Given the description of an element on the screen output the (x, y) to click on. 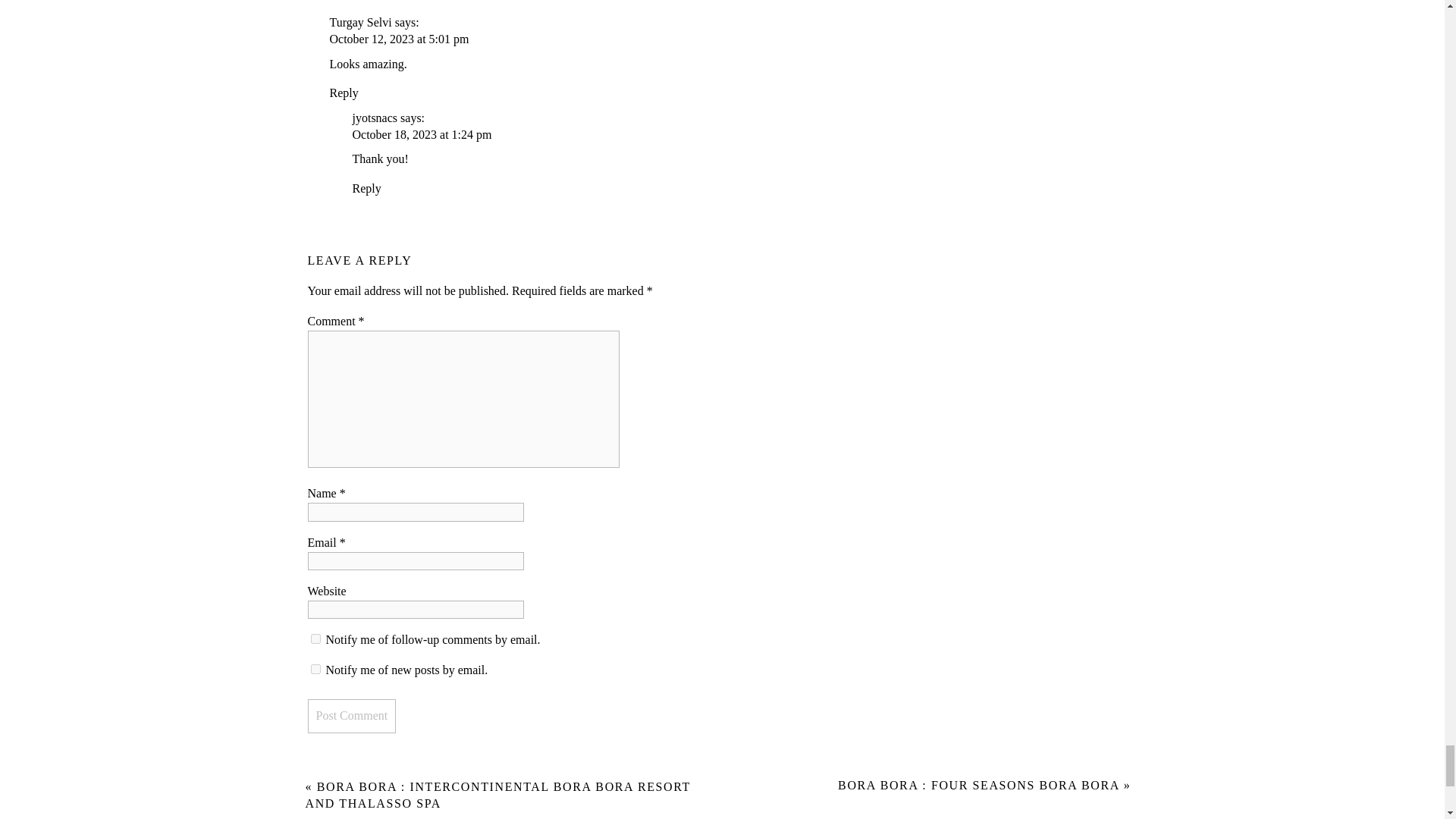
subscribe (315, 638)
Post Comment (351, 715)
subscribe (315, 669)
